Given the description of an element on the screen output the (x, y) to click on. 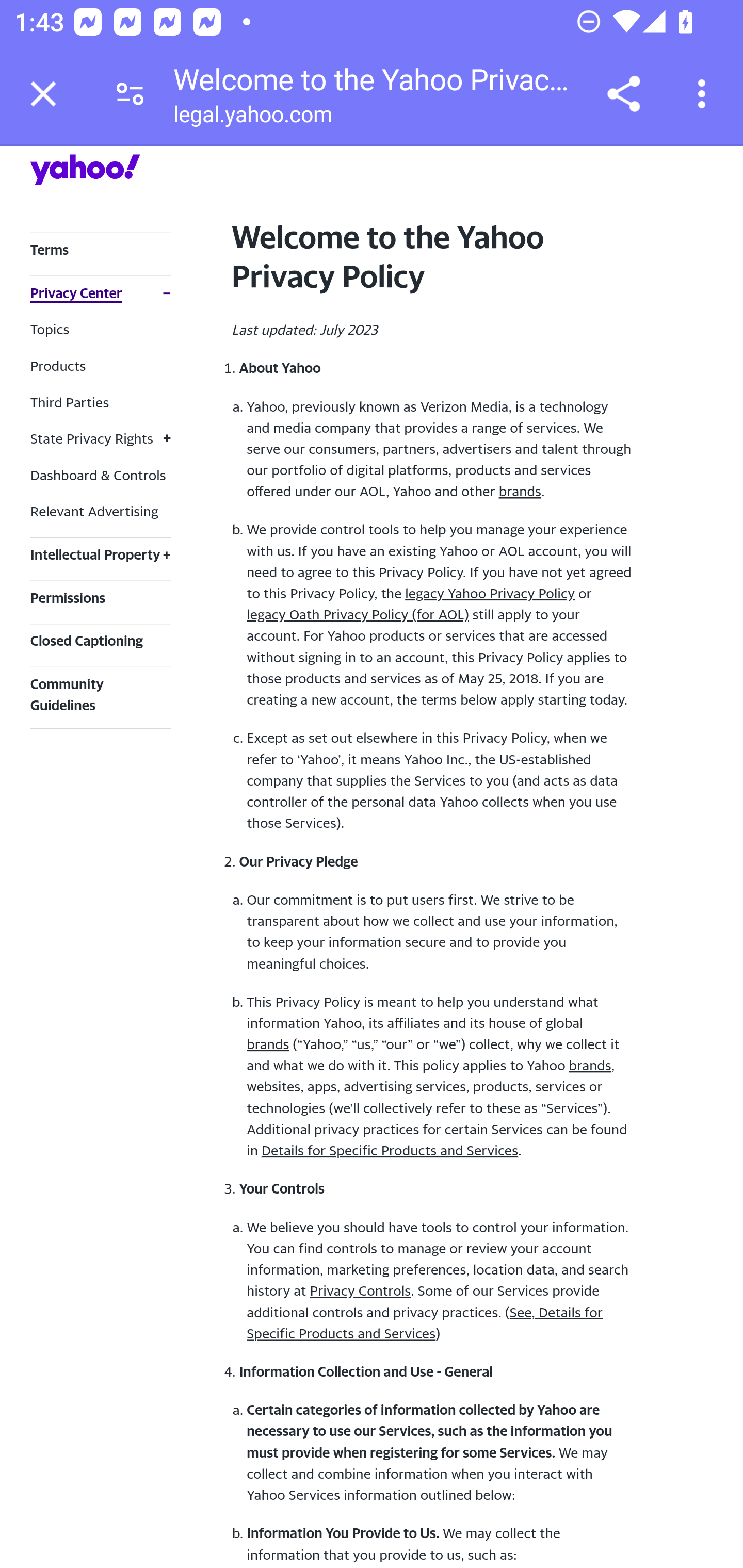
Close tab (43, 93)
Share (623, 93)
Customize and control Google Chrome (705, 93)
Connection is secure (129, 93)
legal.yahoo.com (252, 117)
Yahoo logo (84, 169)
Terms (48, 249)
− Privacy Center − Privacy Center (100, 293)
Topics (49, 328)
Products (57, 365)
Third Parties (69, 401)
+ State Privacy Rights + State Privacy Rights (100, 438)
Dashboard & Controls (97, 473)
brands (519, 490)
Relevant Advertising (93, 510)
+ Intellectual Property + Intellectual Property (100, 554)
legacy Yahoo Privacy Policy (489, 593)
Permissions (67, 597)
legacy Oath Privacy Policy (for AOL) (356, 613)
Closed Captioning (86, 640)
Community Guidelines (66, 694)
brands (267, 1043)
brands (589, 1065)
Details for Specific Products and Services (388, 1149)
Privacy Controls (359, 1290)
See, Details for Specific Products and Services (424, 1322)
